Given the description of an element on the screen output the (x, y) to click on. 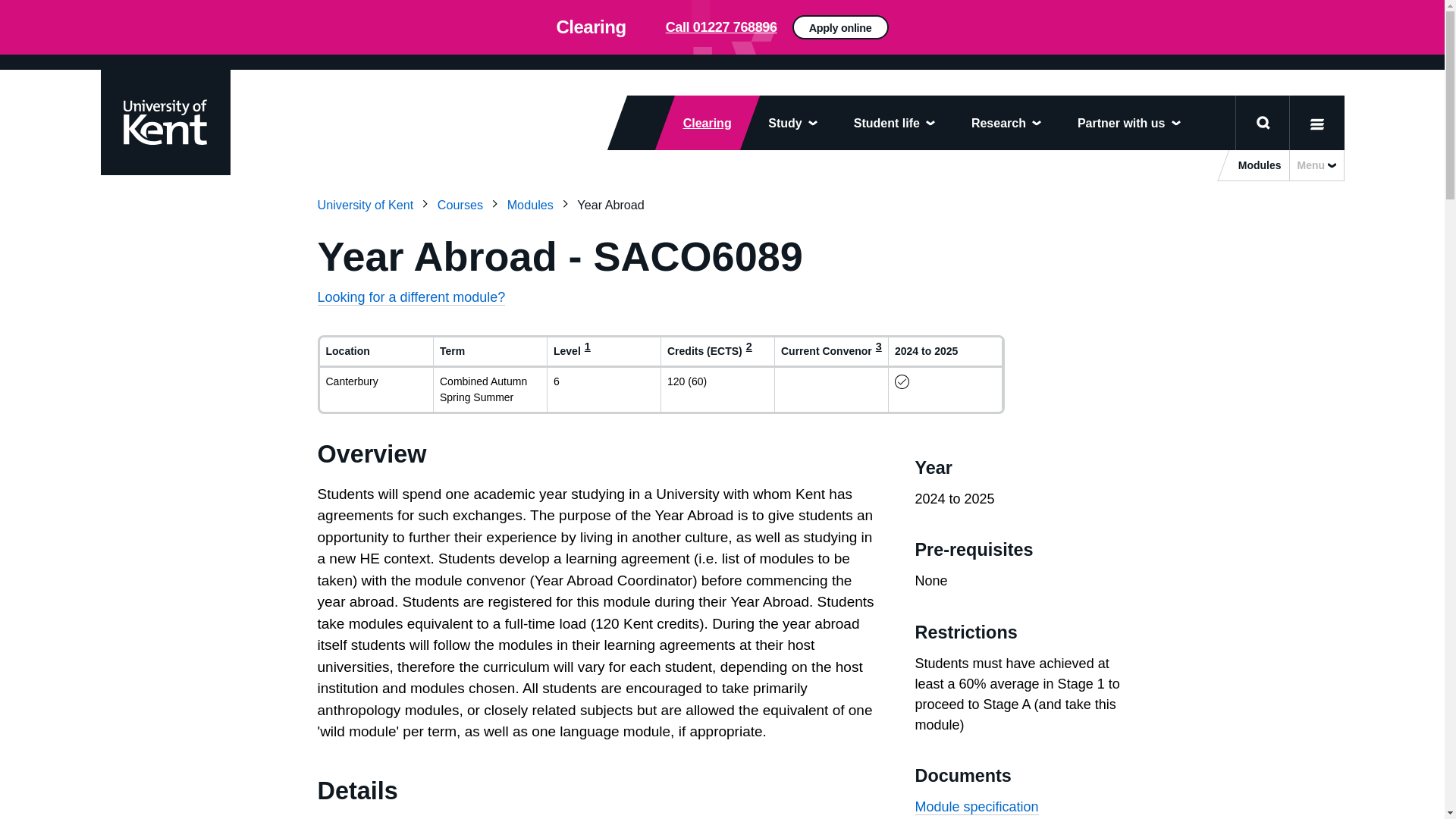
design2 (721, 27)
Apply online (1050, 33)
Clearing (697, 122)
Call 01227 768896 (721, 27)
Study (791, 122)
checkmark-circle (902, 381)
University of Kent logo (164, 121)
